Given the description of an element on the screen output the (x, y) to click on. 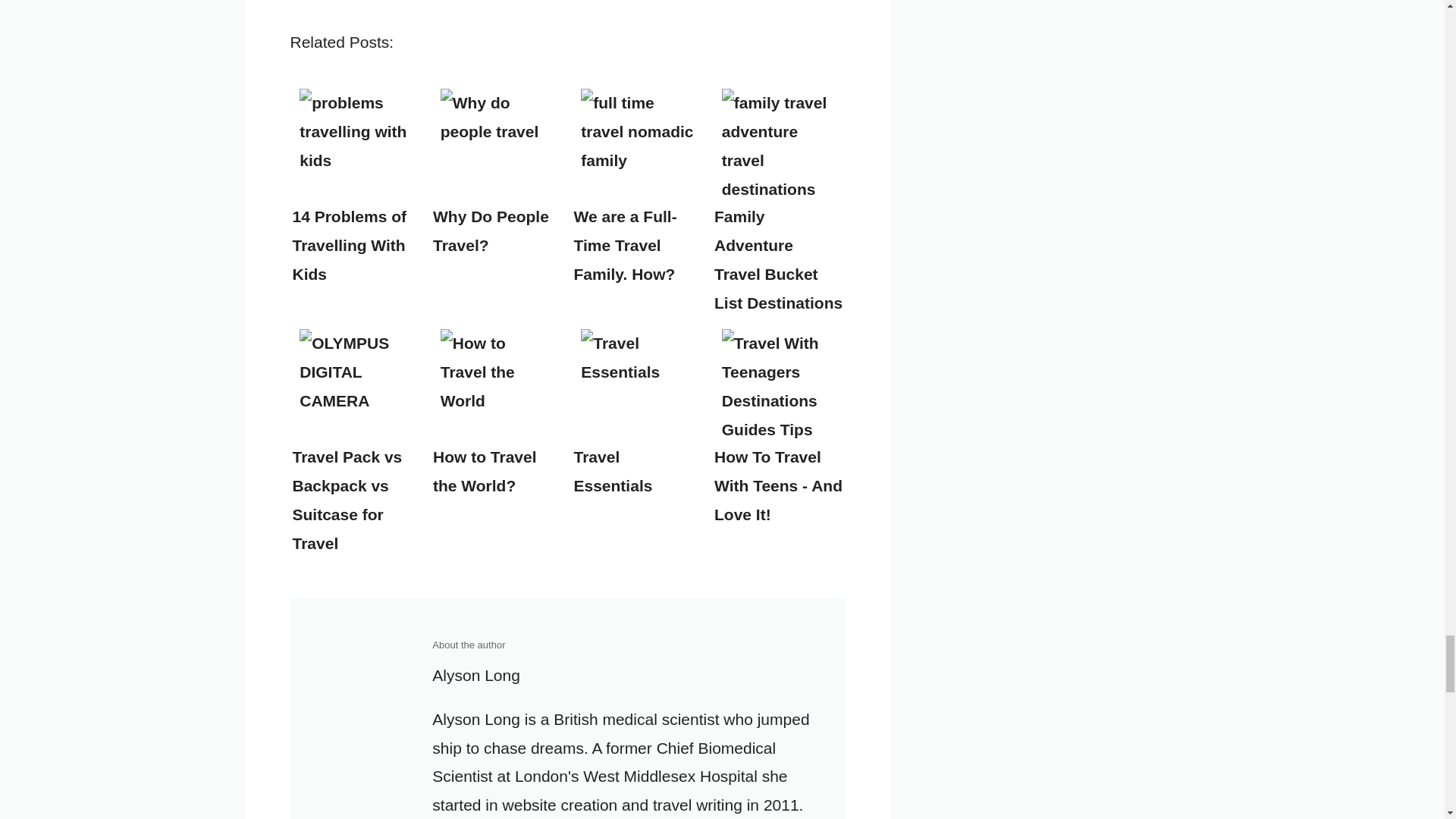
We are a Full-Time Travel Family. How? (637, 145)
14 Problems of Travelling With Kids (356, 145)
Why Do People Travel? (497, 145)
